Given the description of an element on the screen output the (x, y) to click on. 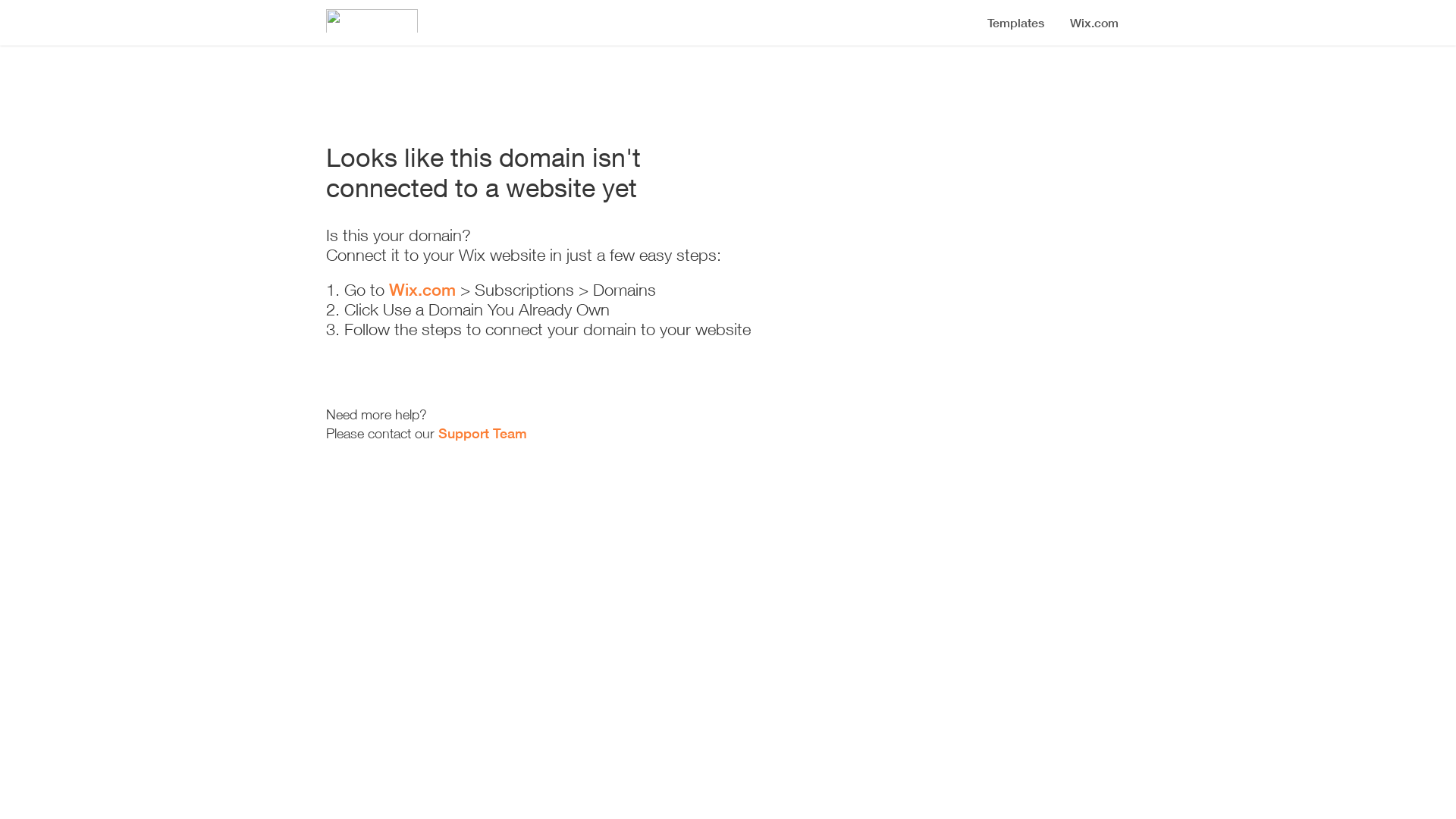
Support Team Element type: text (482, 432)
Wix.com Element type: text (422, 289)
